Given the description of an element on the screen output the (x, y) to click on. 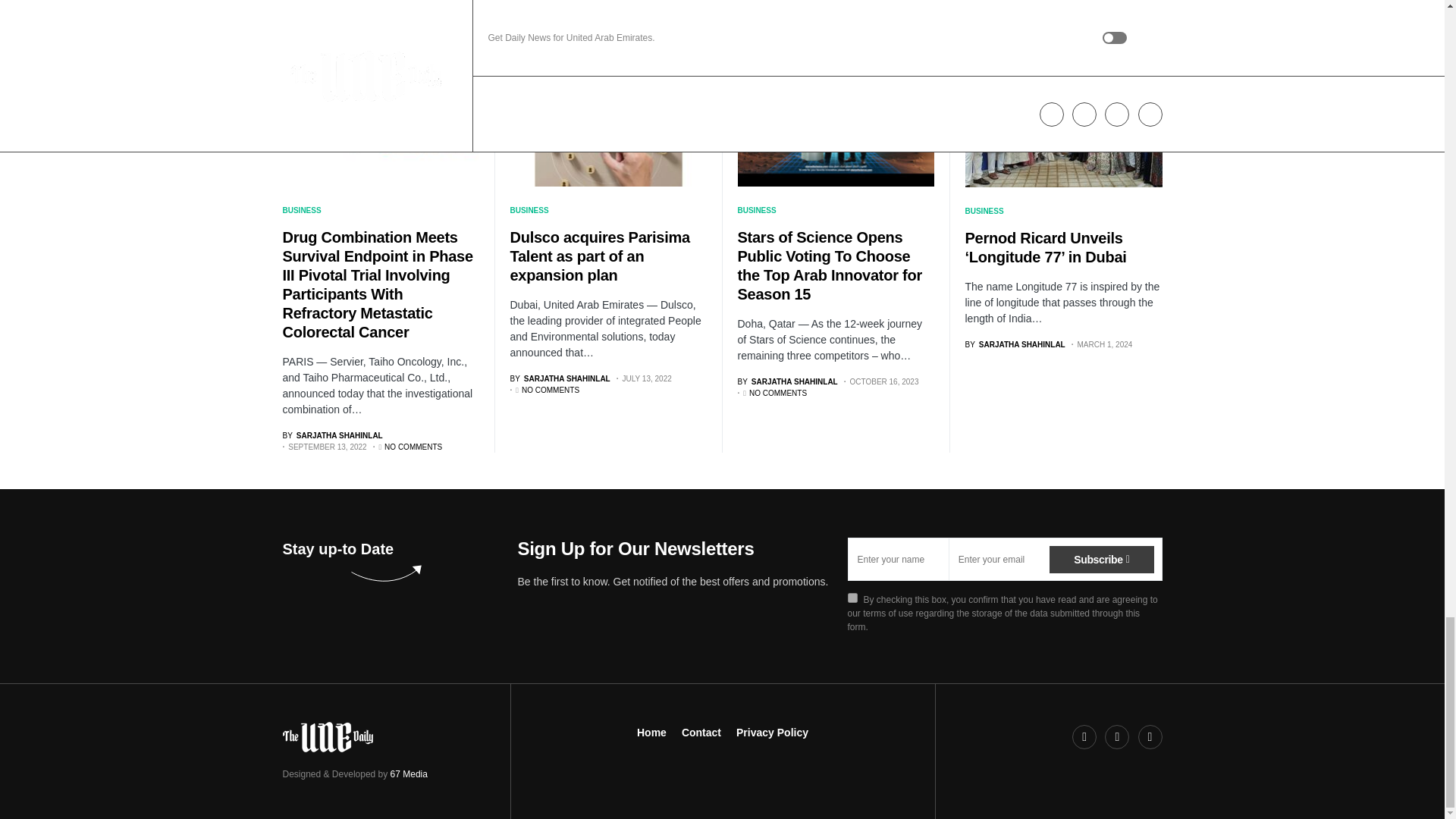
View all posts by Sarjatha Shahinlal (331, 435)
View all posts by Sarjatha Shahinlal (786, 381)
View all posts by Sarjatha Shahinlal (1013, 344)
View all posts by Sarjatha Shahinlal (559, 378)
on (852, 597)
